Given the description of an element on the screen output the (x, y) to click on. 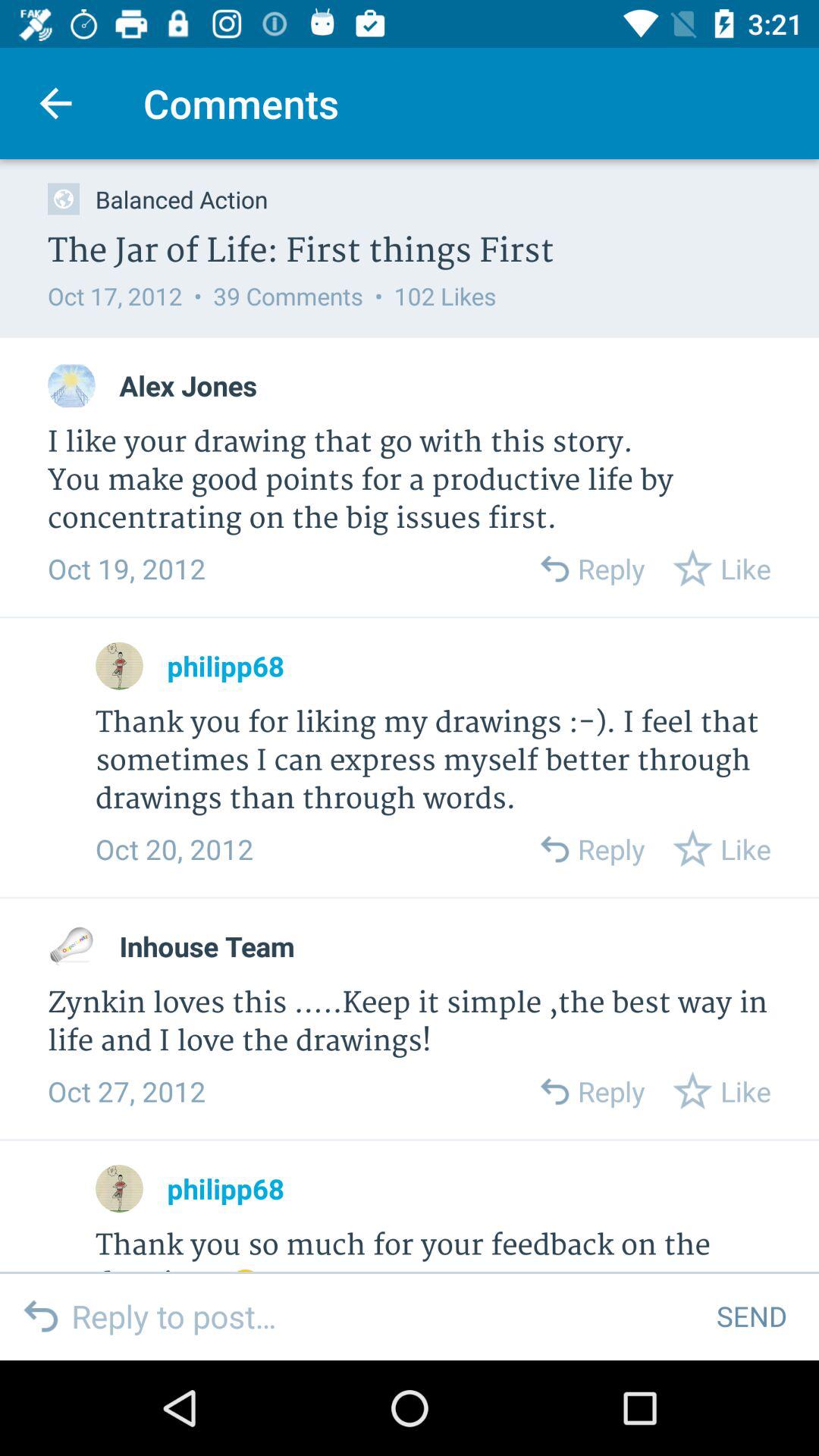
view profile (71, 385)
